Given the description of an element on the screen output the (x, y) to click on. 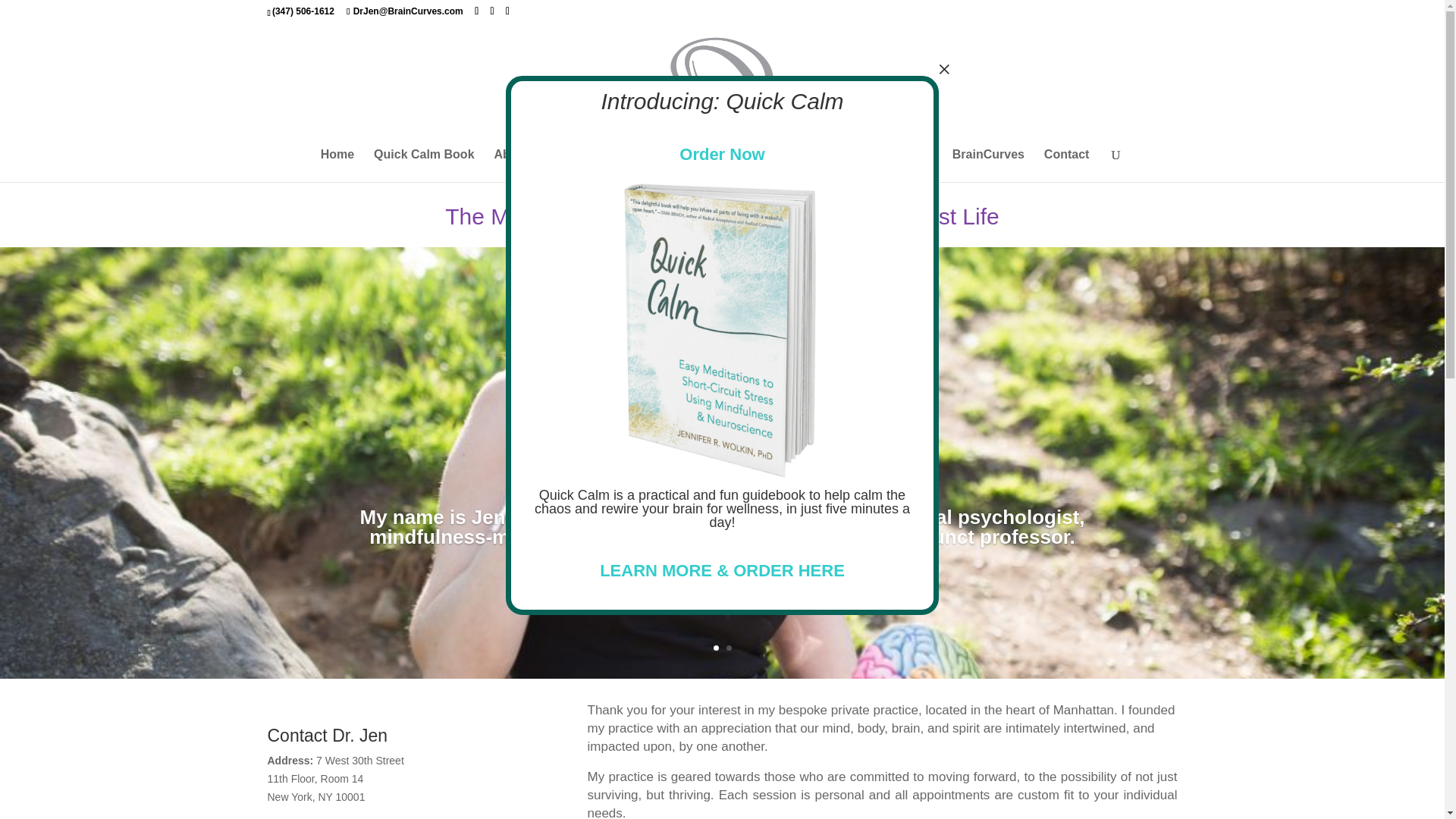
Contact (1066, 165)
Quick Calm Book (424, 165)
Home (336, 165)
My Practice (605, 165)
Resources (894, 165)
About (518, 165)
BrainCurves (988, 165)
Services (697, 165)
